Given the description of an element on the screen output the (x, y) to click on. 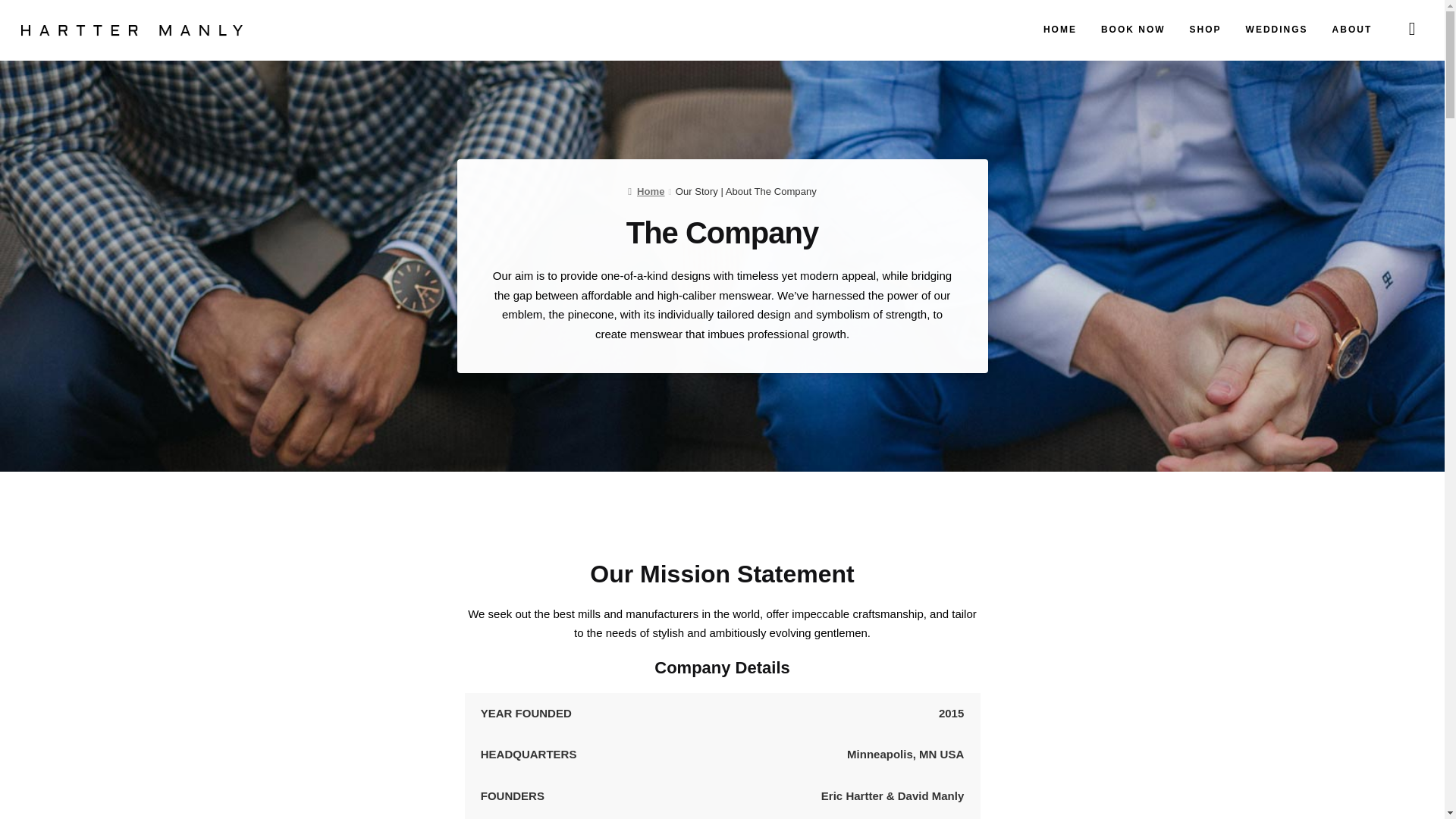
WEDDINGS (1276, 29)
HOME (1059, 29)
BOOK NOW (1133, 29)
ABOUT (1352, 29)
SHOP (1205, 29)
